Given the description of an element on the screen output the (x, y) to click on. 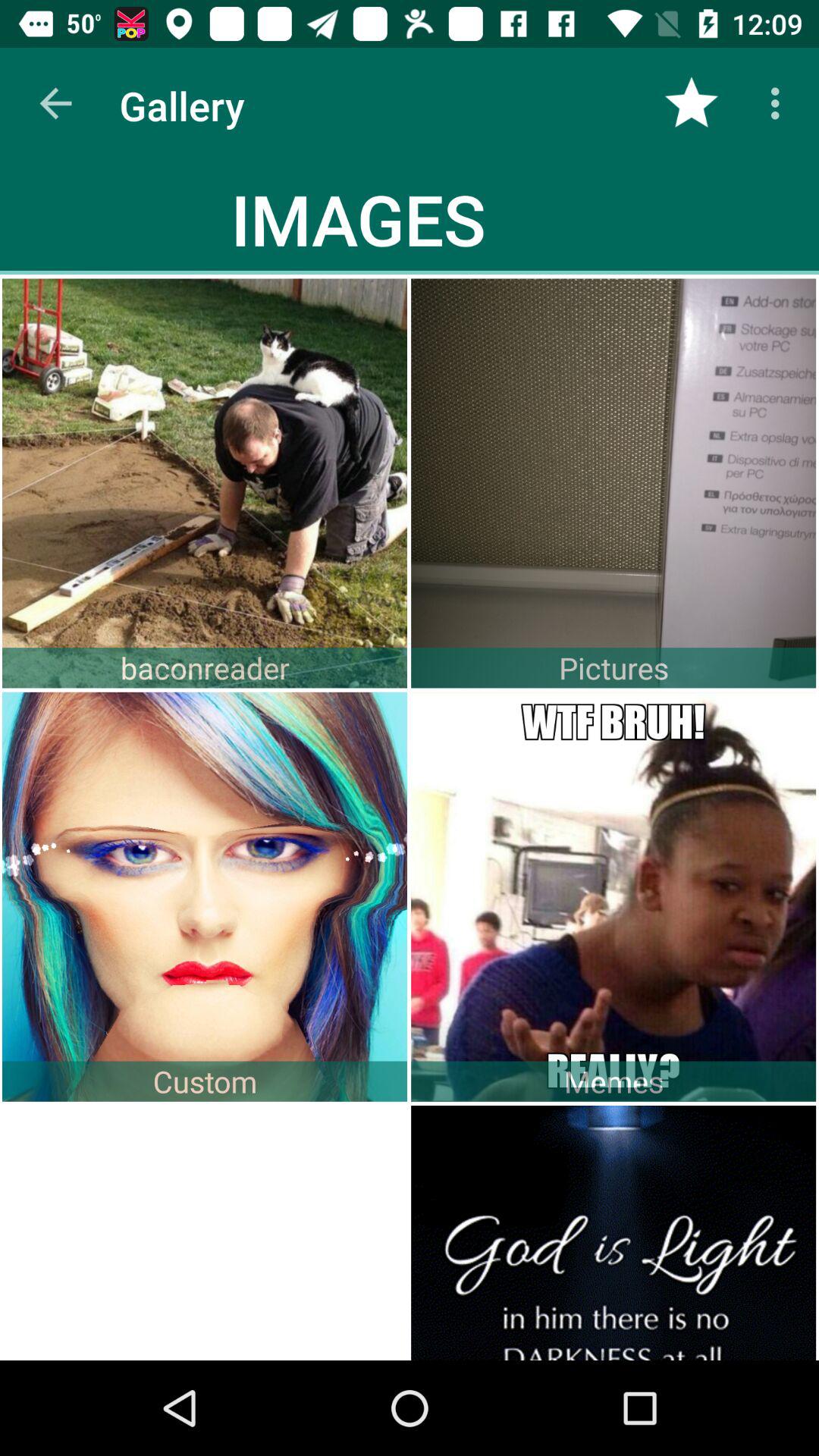
click the item next to the gallery item (55, 103)
